Given the description of an element on the screen output the (x, y) to click on. 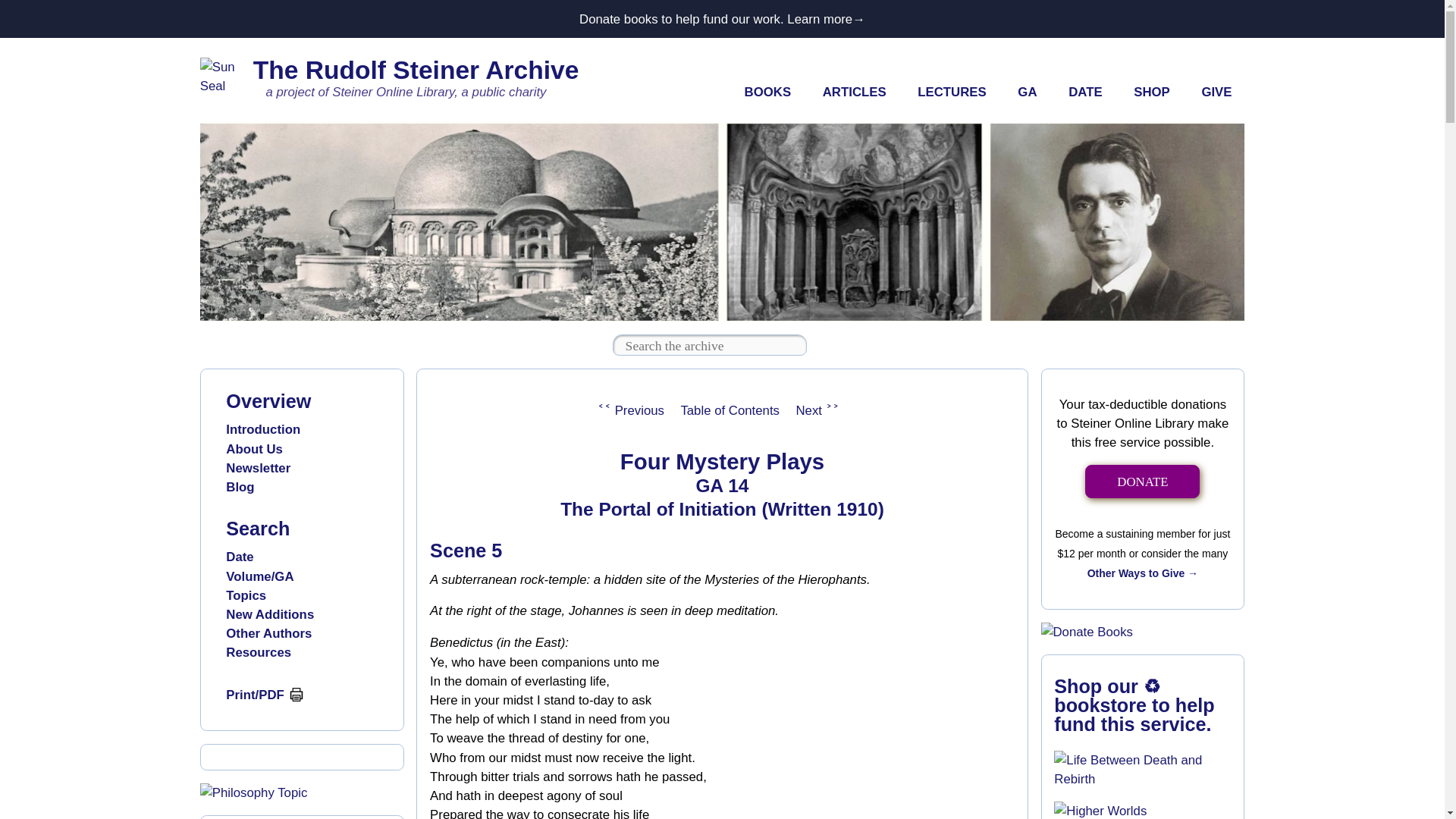
LECTURES (951, 92)
DONATE (1141, 481)
GIVE (1216, 92)
DATE (1085, 92)
About Us (253, 449)
Resources (258, 652)
Date (239, 556)
Newsletter (257, 468)
Blog (239, 486)
The Rudolf Steiner Archive (416, 70)
New Additions (269, 614)
Introduction (262, 429)
Table of Contents (730, 410)
Topics (245, 595)
BOOKS (767, 92)
